Given the description of an element on the screen output the (x, y) to click on. 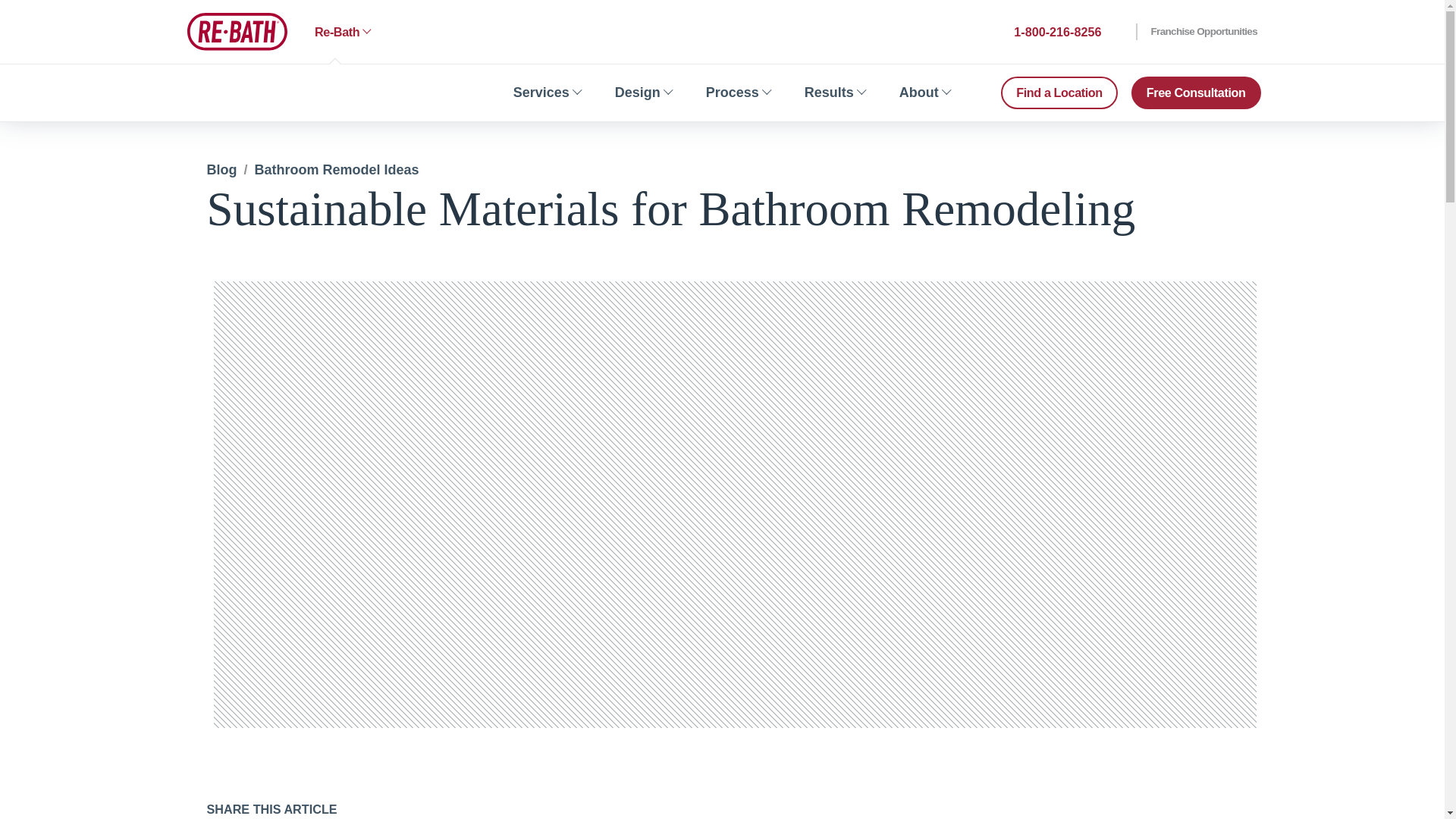
Results (834, 92)
Re-Bath (236, 31)
Franchise Opportunities (1196, 31)
Design (642, 92)
About (923, 92)
1-800-216-8256 (1056, 32)
Process (737, 92)
Services (546, 92)
